Given the description of an element on the screen output the (x, y) to click on. 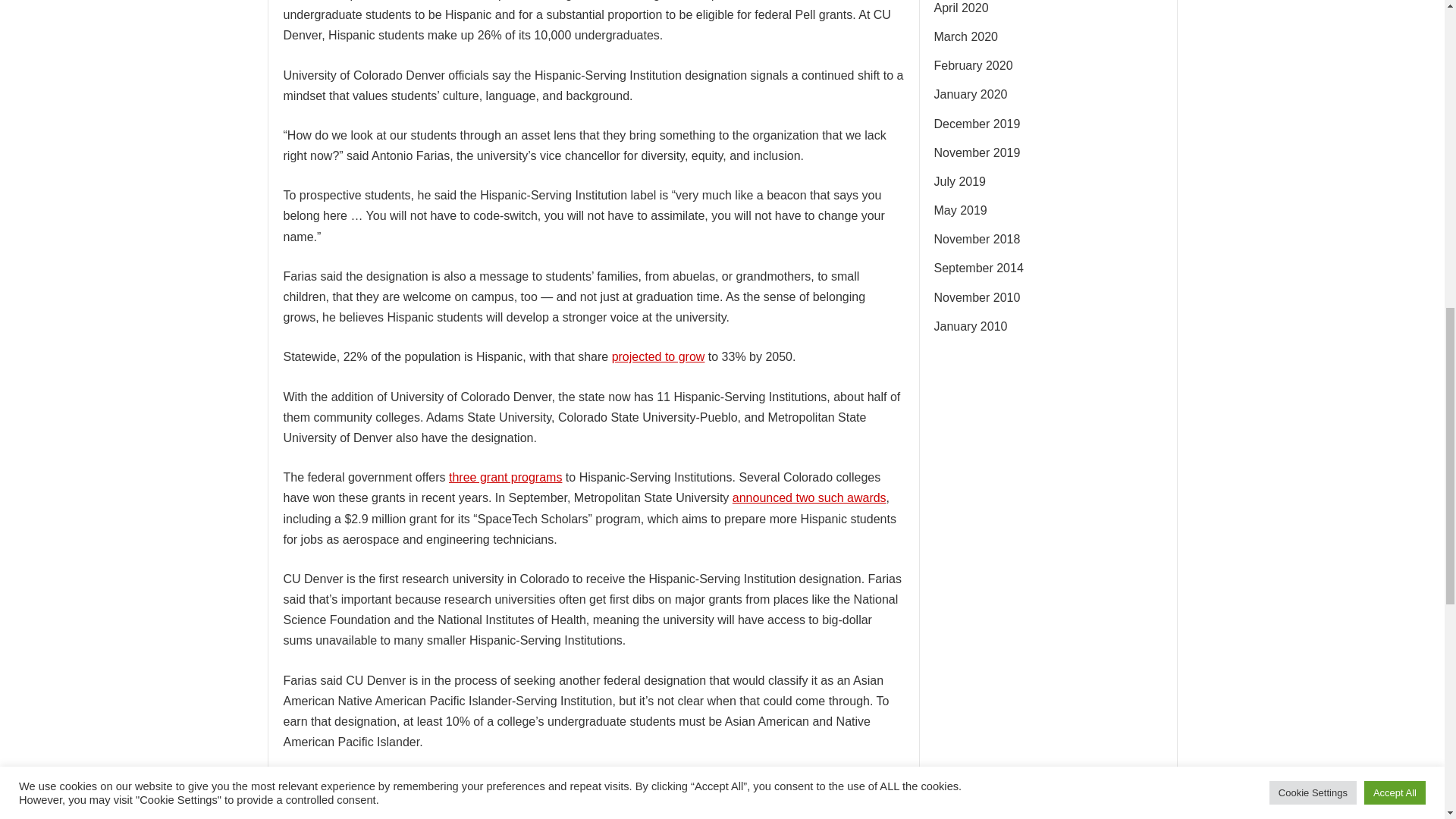
CU Denver recognized as Hispanic-Serving Institution (634, 780)
projected to grow (657, 356)
announced two such awards (809, 497)
three grant programs (505, 477)
